Given the description of an element on the screen output the (x, y) to click on. 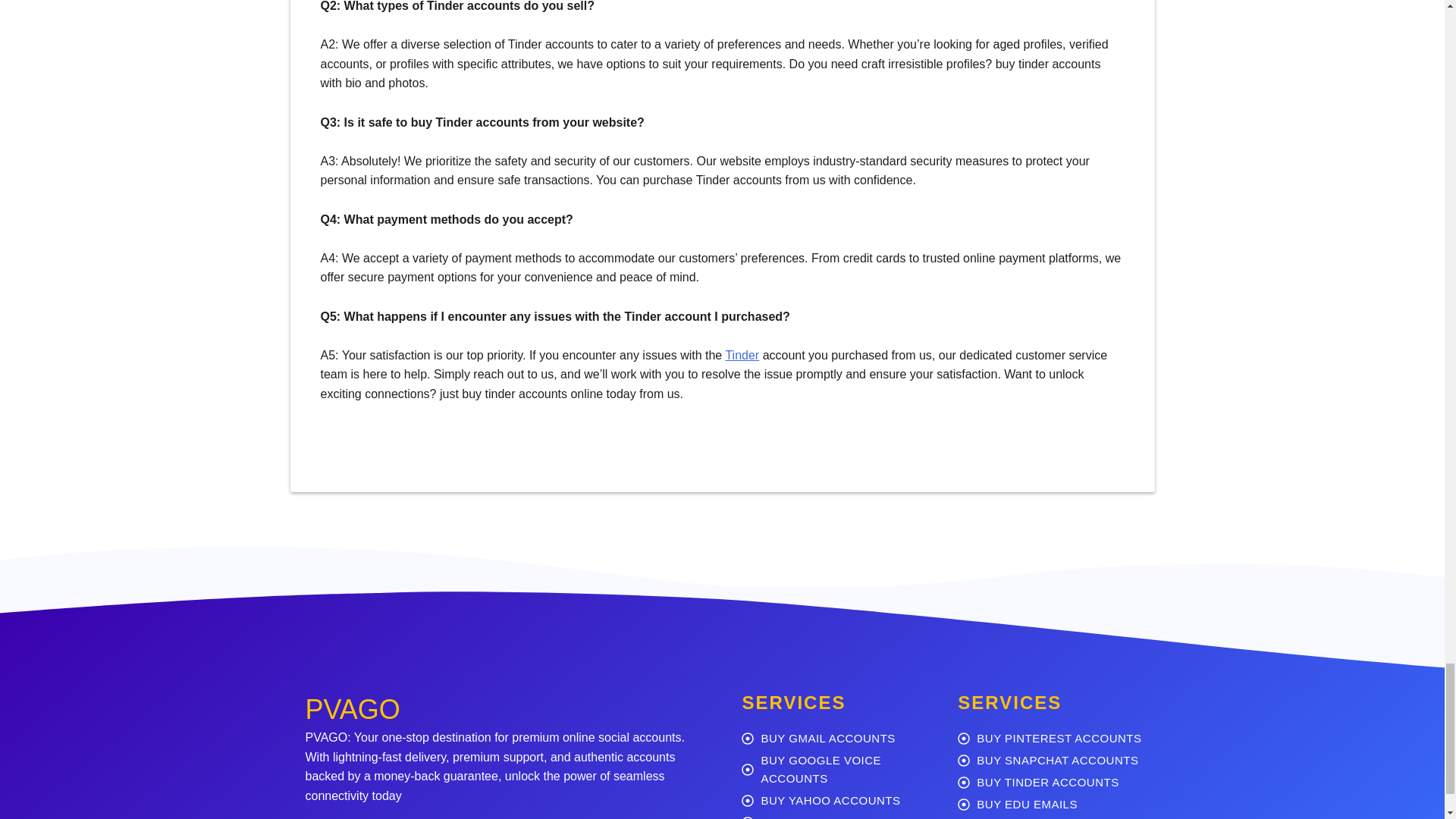
Tinder (741, 354)
BUY YAHOO ACCOUNTS (837, 800)
BUY GMAIL ACCOUNTS (837, 738)
BUY GOOGLE VOICE ACCOUNTS (837, 769)
